Given the description of an element on the screen output the (x, y) to click on. 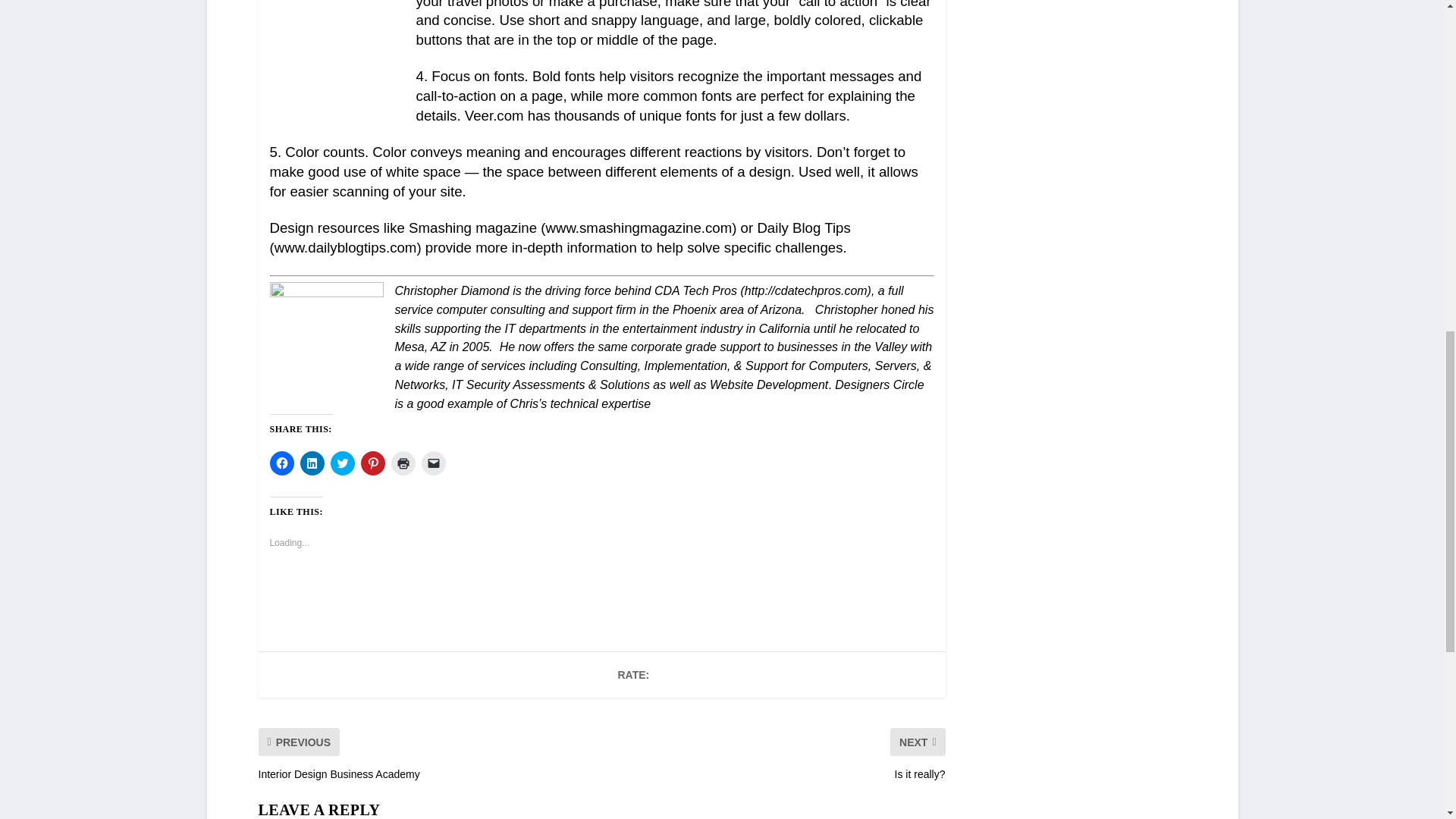
Click to share on Pinterest (373, 463)
Click to share on LinkedIn (311, 463)
Click to email a link to a friend (433, 463)
www.smashingmagazine.com (638, 227)
Click to print (402, 463)
Click to share on Facebook (281, 463)
Click to share on Twitter (342, 463)
www.dailyblogtips.com (345, 247)
